Given the description of an element on the screen output the (x, y) to click on. 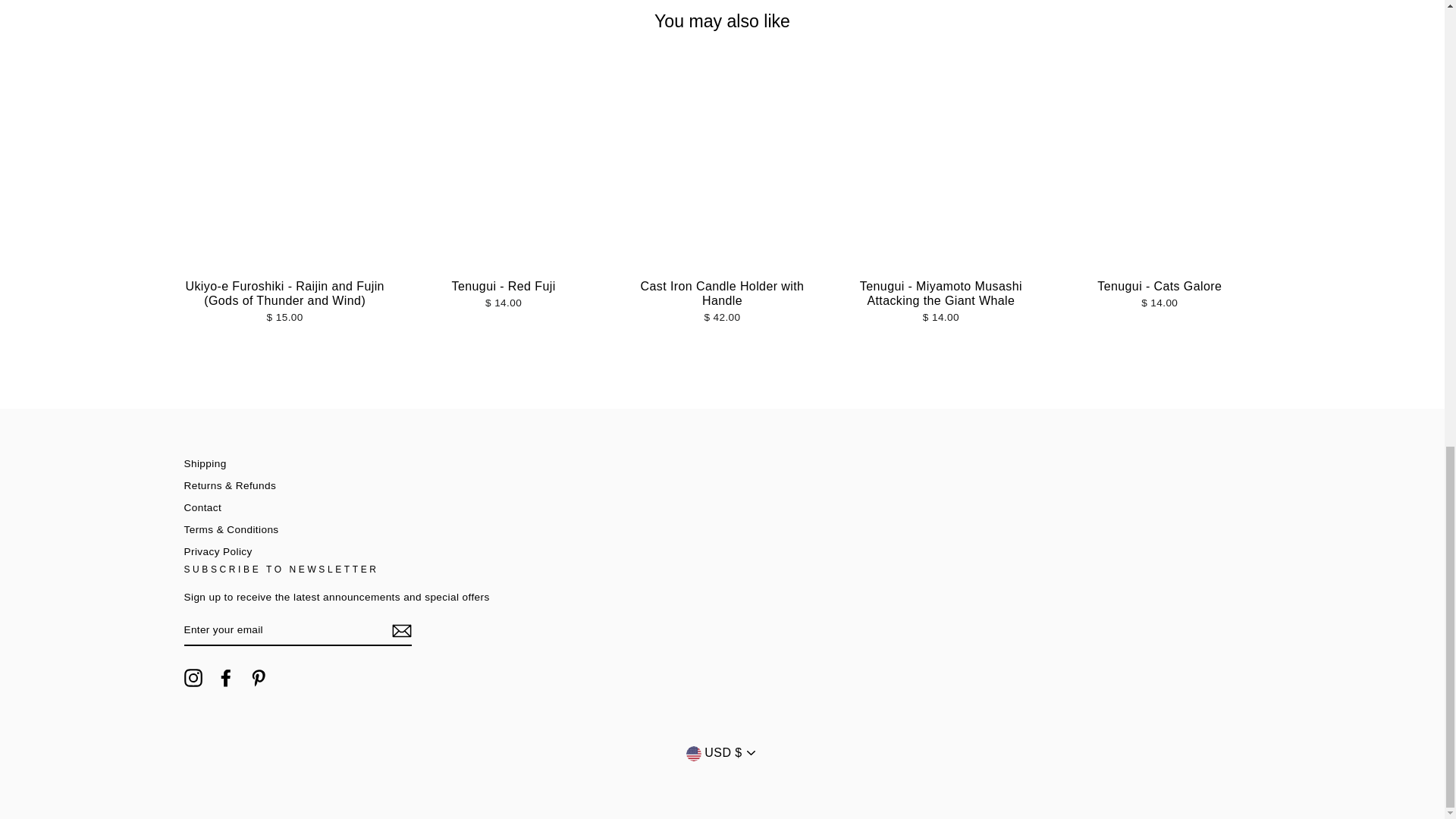
ombrato on Instagram (192, 678)
ombrato on Pinterest (257, 678)
ombrato on Facebook (225, 678)
